Given the description of an element on the screen output the (x, y) to click on. 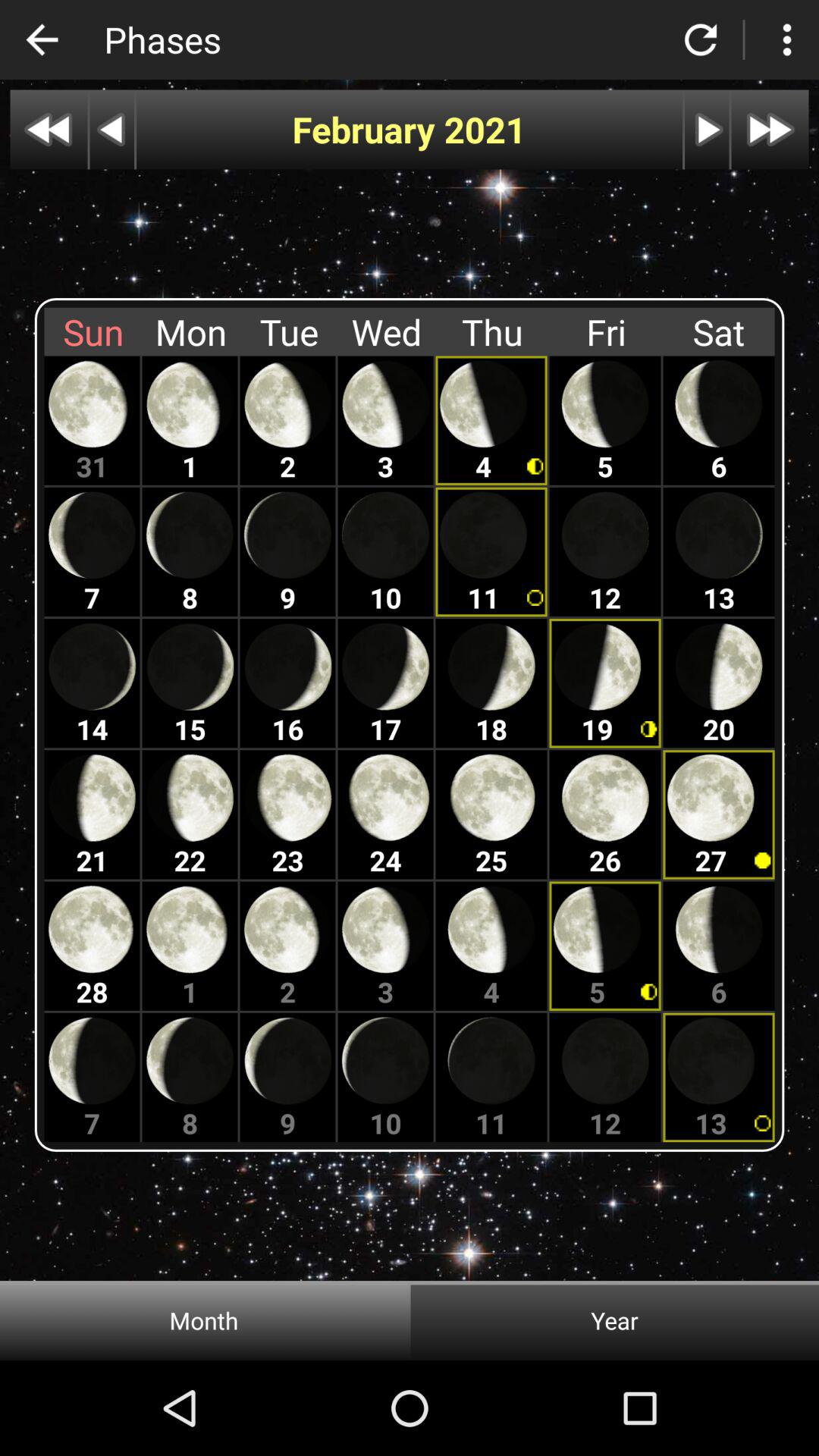
go to next (706, 129)
